Given the description of an element on the screen output the (x, y) to click on. 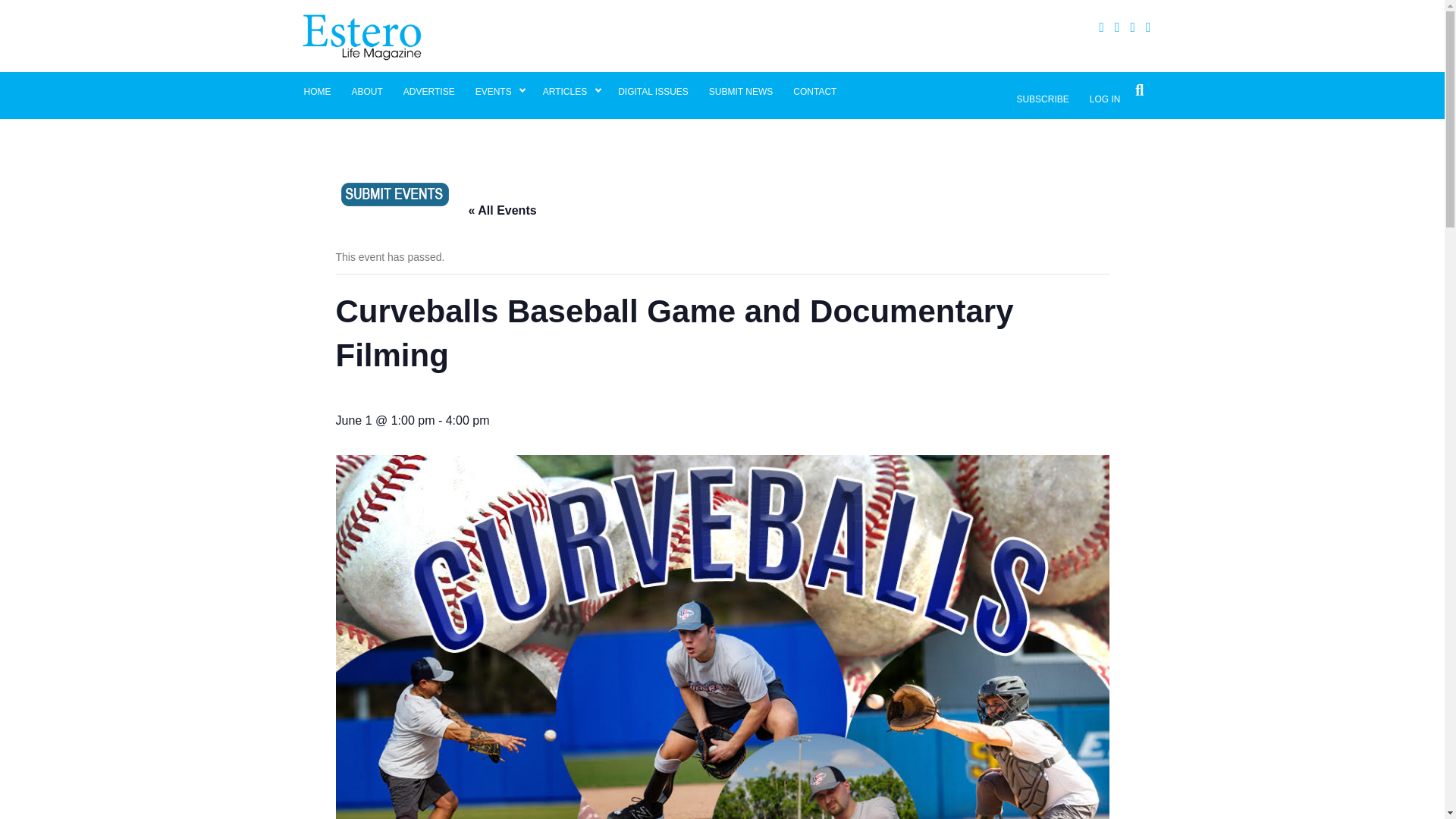
ARTICLES (569, 91)
ADVERTISE (428, 91)
EVENTS (498, 91)
ABOUT (365, 91)
HOME (317, 91)
